Given the description of an element on the screen output the (x, y) to click on. 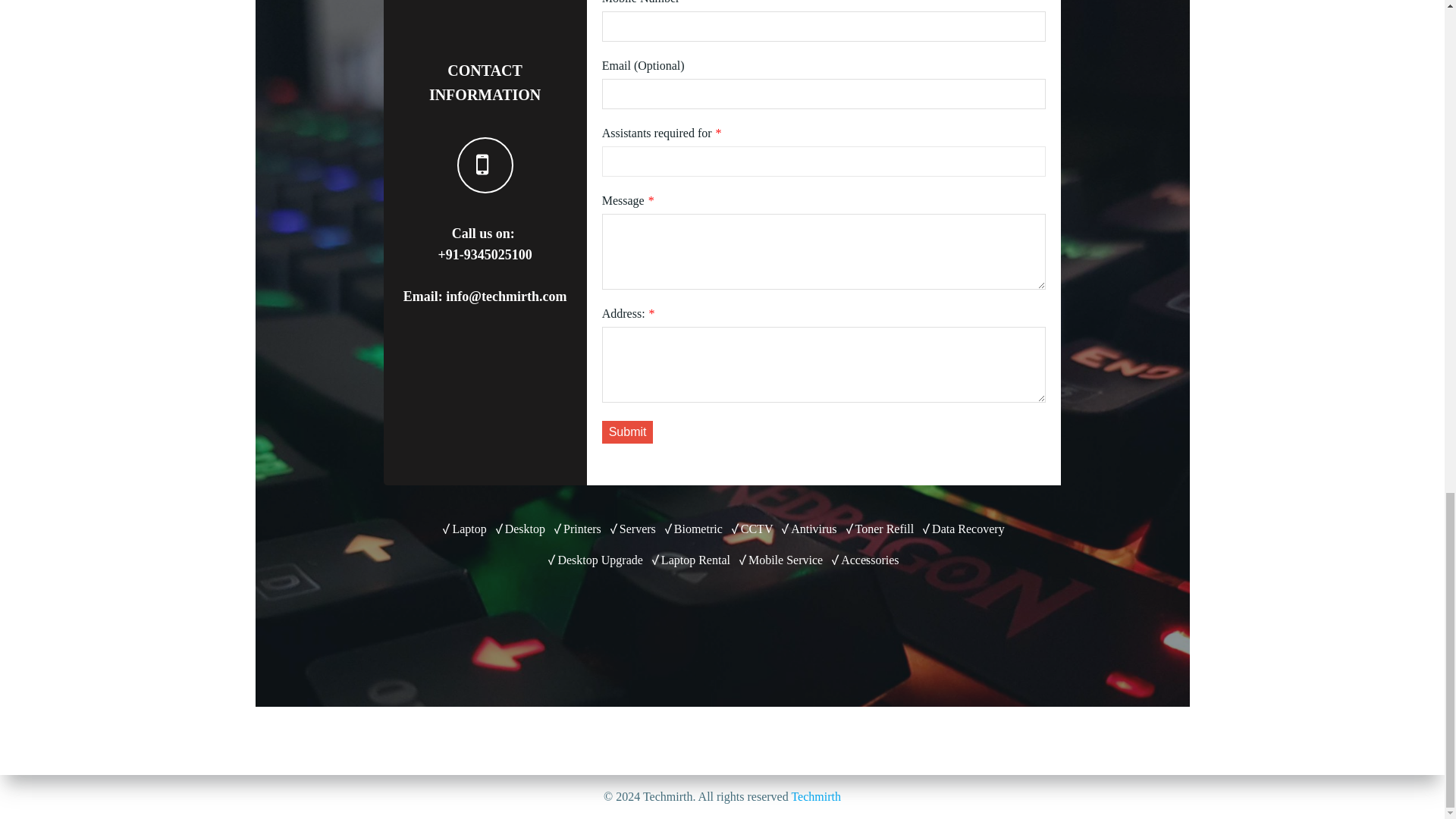
Submit (627, 431)
